Given the description of an element on the screen output the (x, y) to click on. 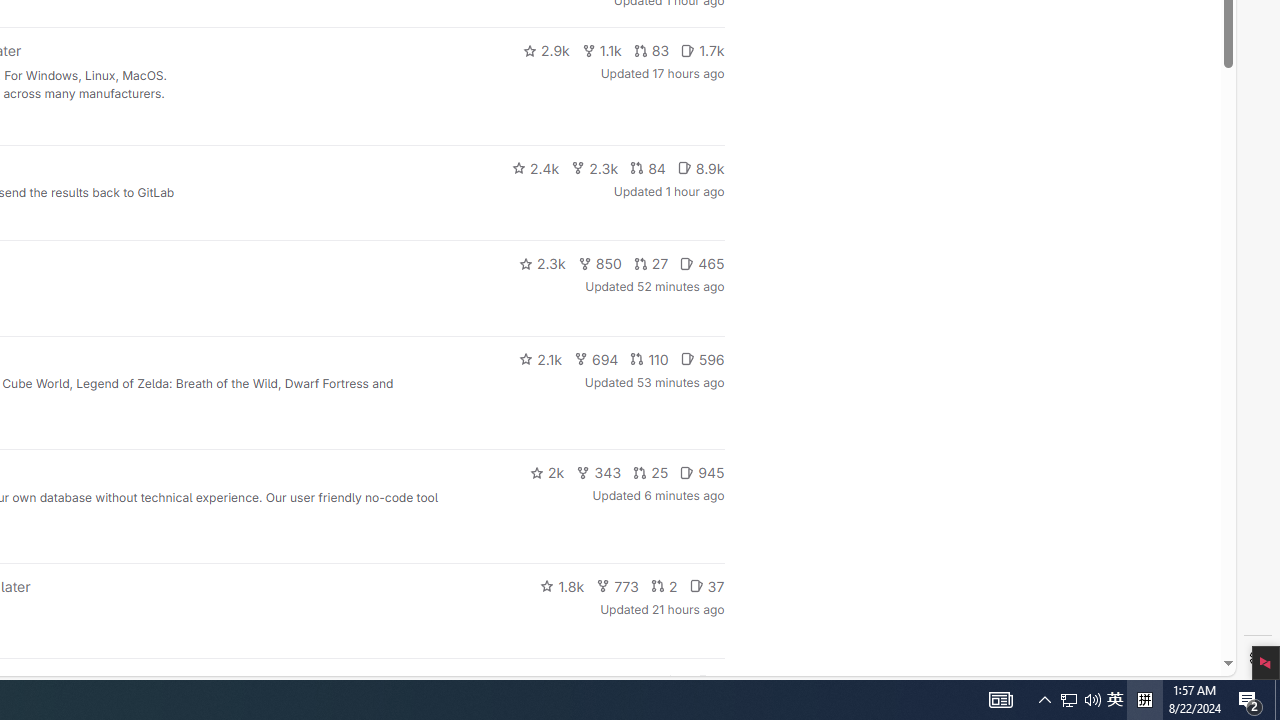
1.8k (562, 585)
2k (546, 472)
1.4k (573, 681)
27 (651, 263)
Class: s14 gl-mr-2 (704, 681)
143 (629, 681)
2.3k (541, 263)
2.4k (535, 167)
465 (701, 263)
2.1k (539, 358)
1.7k (702, 50)
694 (596, 358)
1.1k (601, 50)
2.9k (545, 50)
